Given the description of an element on the screen output the (x, y) to click on. 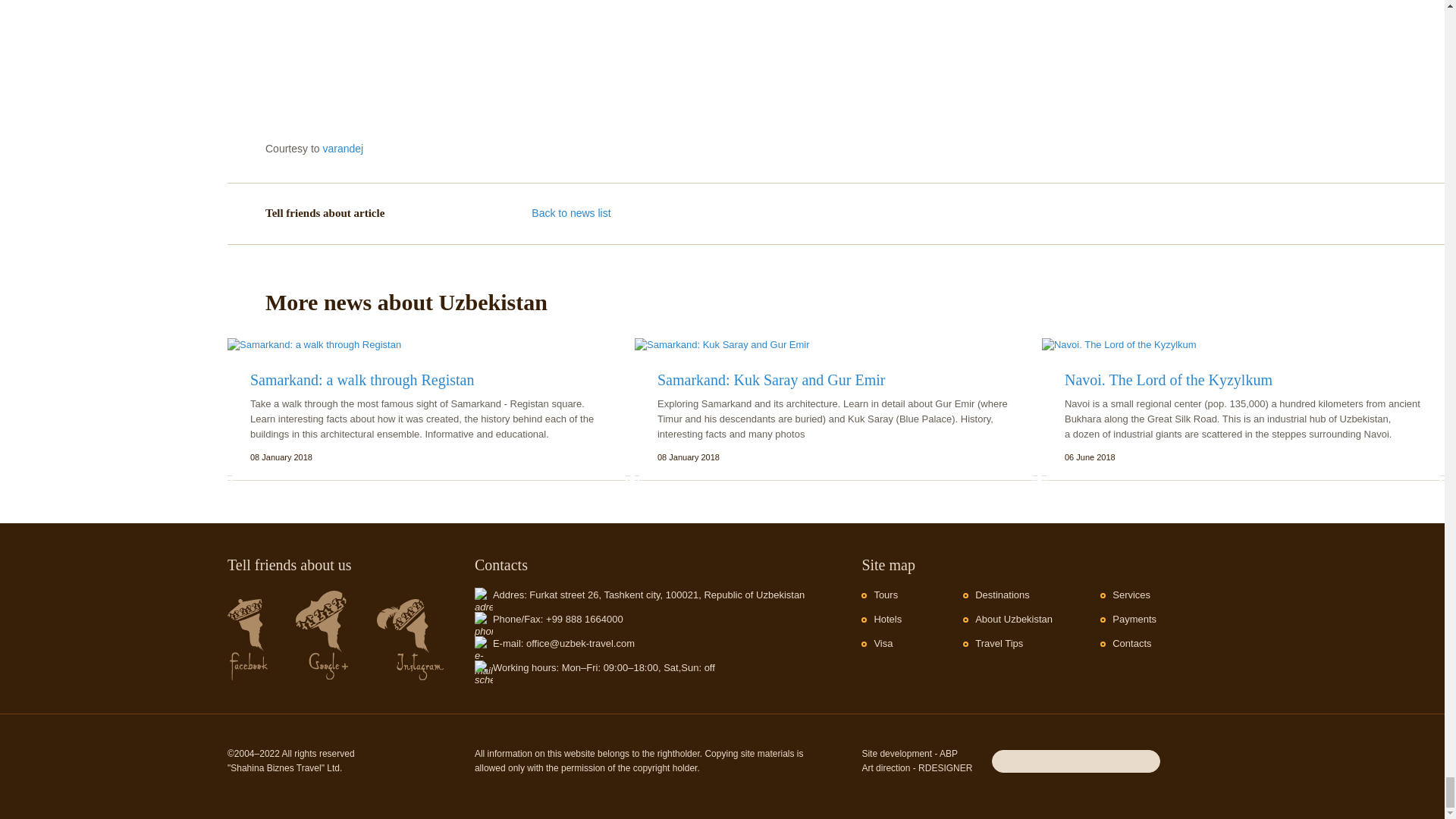
Search (1146, 760)
